Given the description of an element on the screen output the (x, y) to click on. 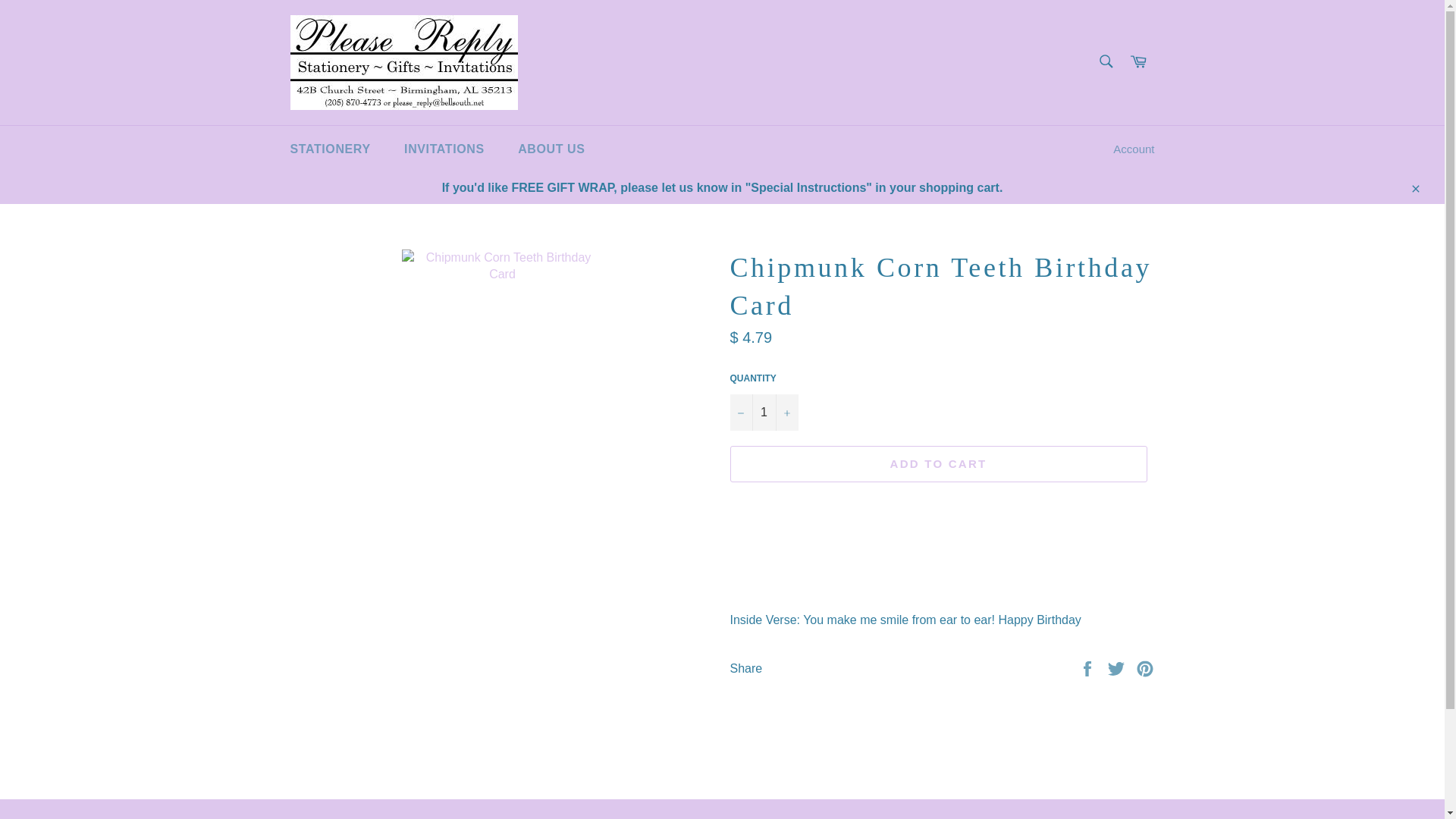
Account (1133, 149)
INVITATIONS (443, 149)
Pin on Pinterest (1144, 667)
ADD TO CART (938, 463)
Pin on Pinterest (1144, 667)
Close (1414, 187)
Search (1104, 60)
Tweet on Twitter (1117, 667)
Tweet on Twitter (1117, 667)
Cart (1138, 62)
